Given the description of an element on the screen output the (x, y) to click on. 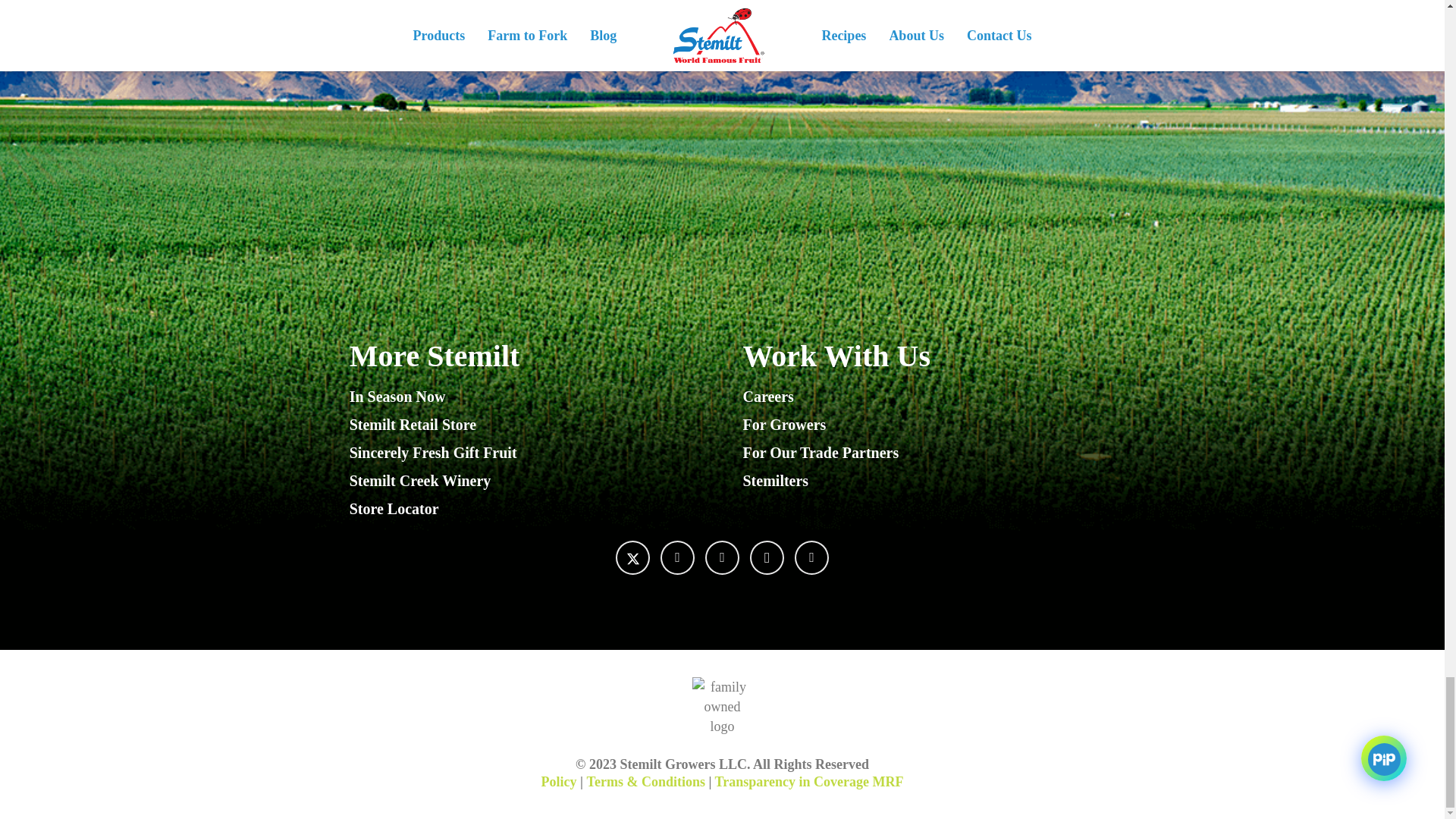
Pinterest (811, 557)
YouTube (721, 557)
Facebook (677, 557)
Twitter (632, 557)
Instagram (766, 557)
